Given the description of an element on the screen output the (x, y) to click on. 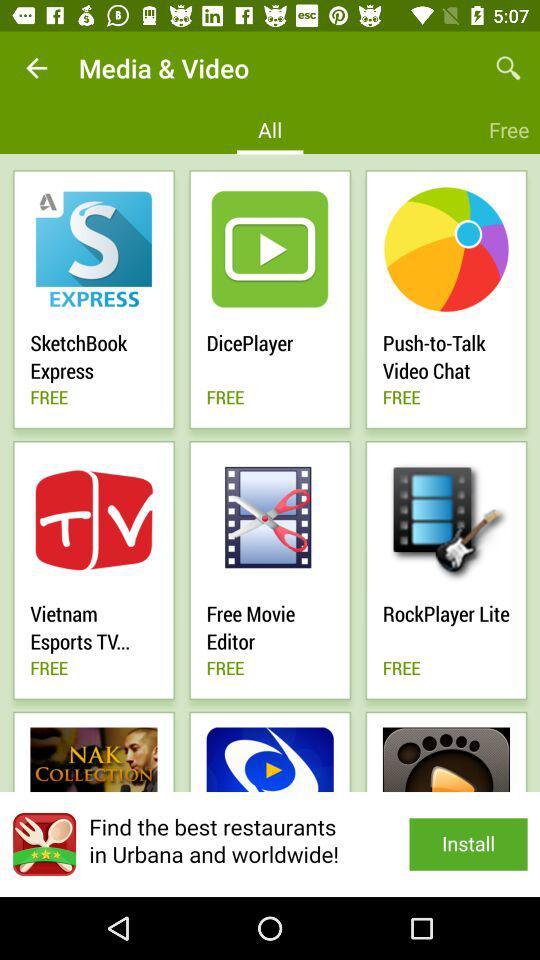
install to find best restaurants (270, 844)
